Given the description of an element on the screen output the (x, y) to click on. 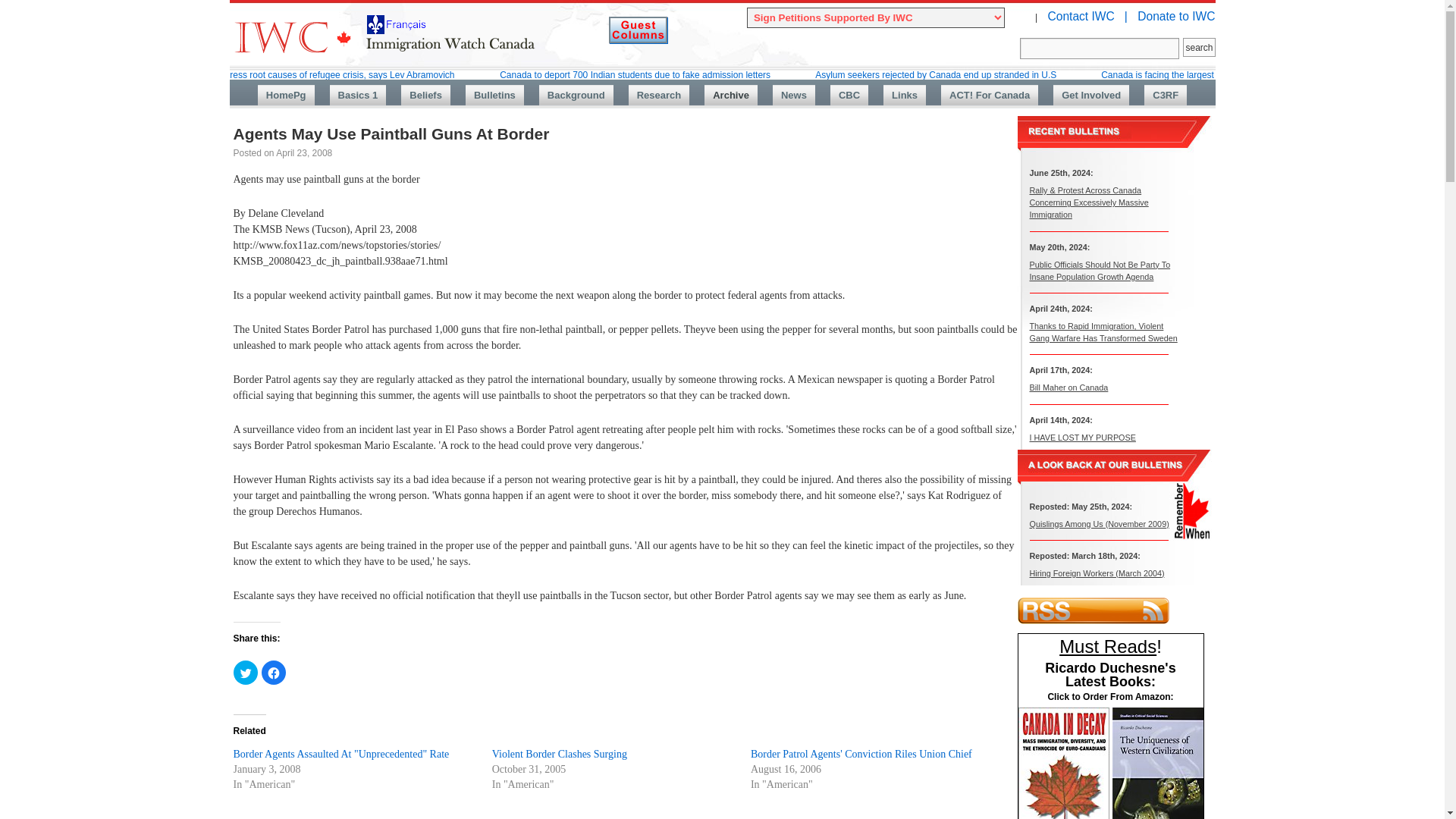
Violent Border Clashes Surging (559, 754)
Donate to IWC (1175, 15)
Canadians Citizens For Charter Rights and Freedoms (1165, 95)
Permanent Link to I HAVE LOST MY PURPOSE (1082, 436)
Asylum seekers rejected by Canada end up stranded in U.S (936, 74)
Permanent Link to Bill Maher on Canada (1068, 387)
search (1198, 46)
Search (1099, 47)
search (1198, 46)
Click to share on Twitter (244, 672)
Click to share on Facebook (272, 672)
